Given the description of an element on the screen output the (x, y) to click on. 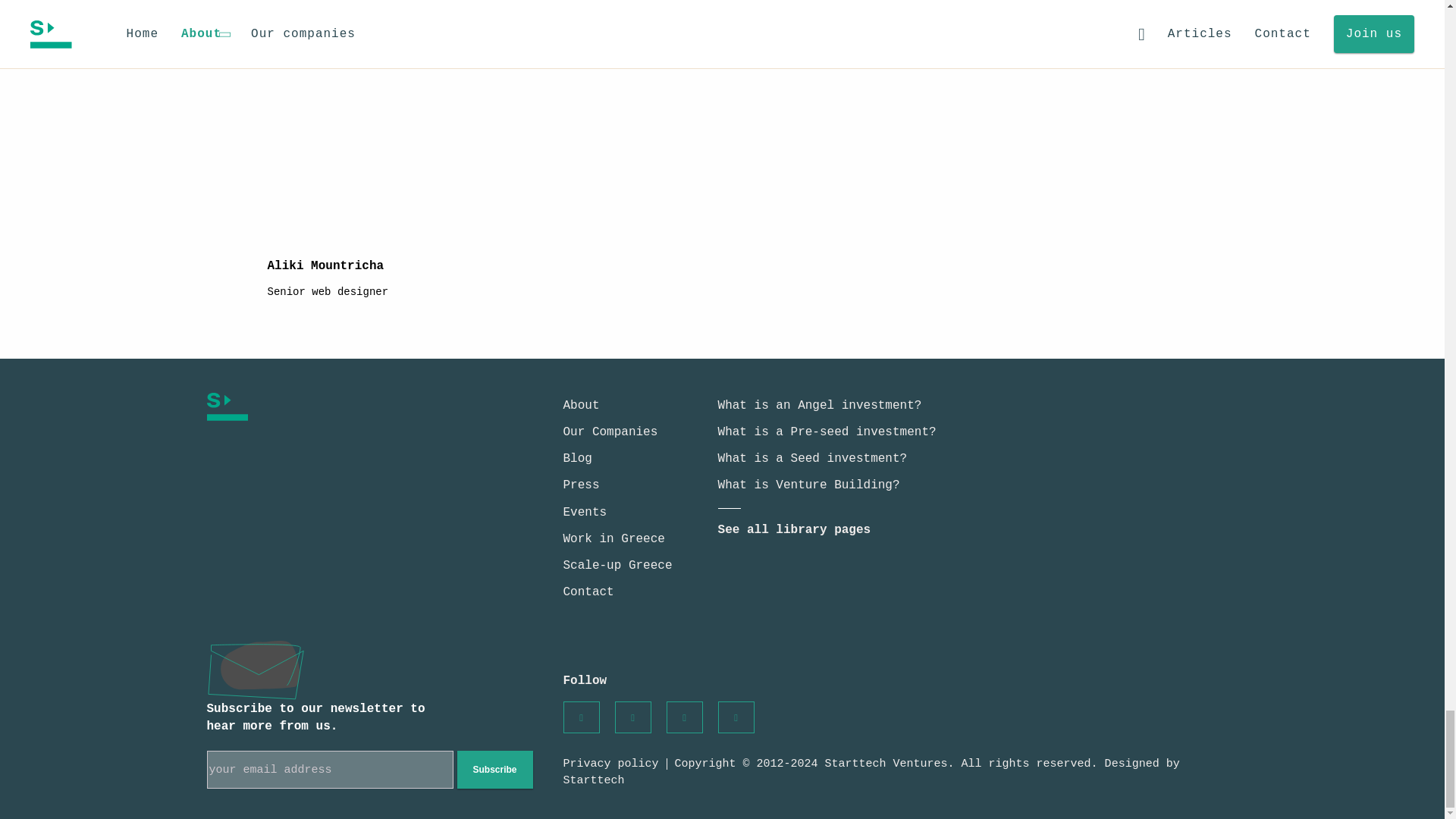
Our Companies (610, 431)
What is Venture Building? (808, 485)
Subscribe (494, 769)
See all library pages (793, 530)
Subscribe (494, 769)
Work in Greece (612, 539)
Events (584, 512)
Blog (576, 459)
Contact (587, 591)
Scale-up Greece (616, 565)
What is a Seed investment? (812, 459)
Starttech Ventures (341, 407)
Press (580, 485)
What is an Angel investment? (819, 405)
About (580, 405)
